Given the description of an element on the screen output the (x, y) to click on. 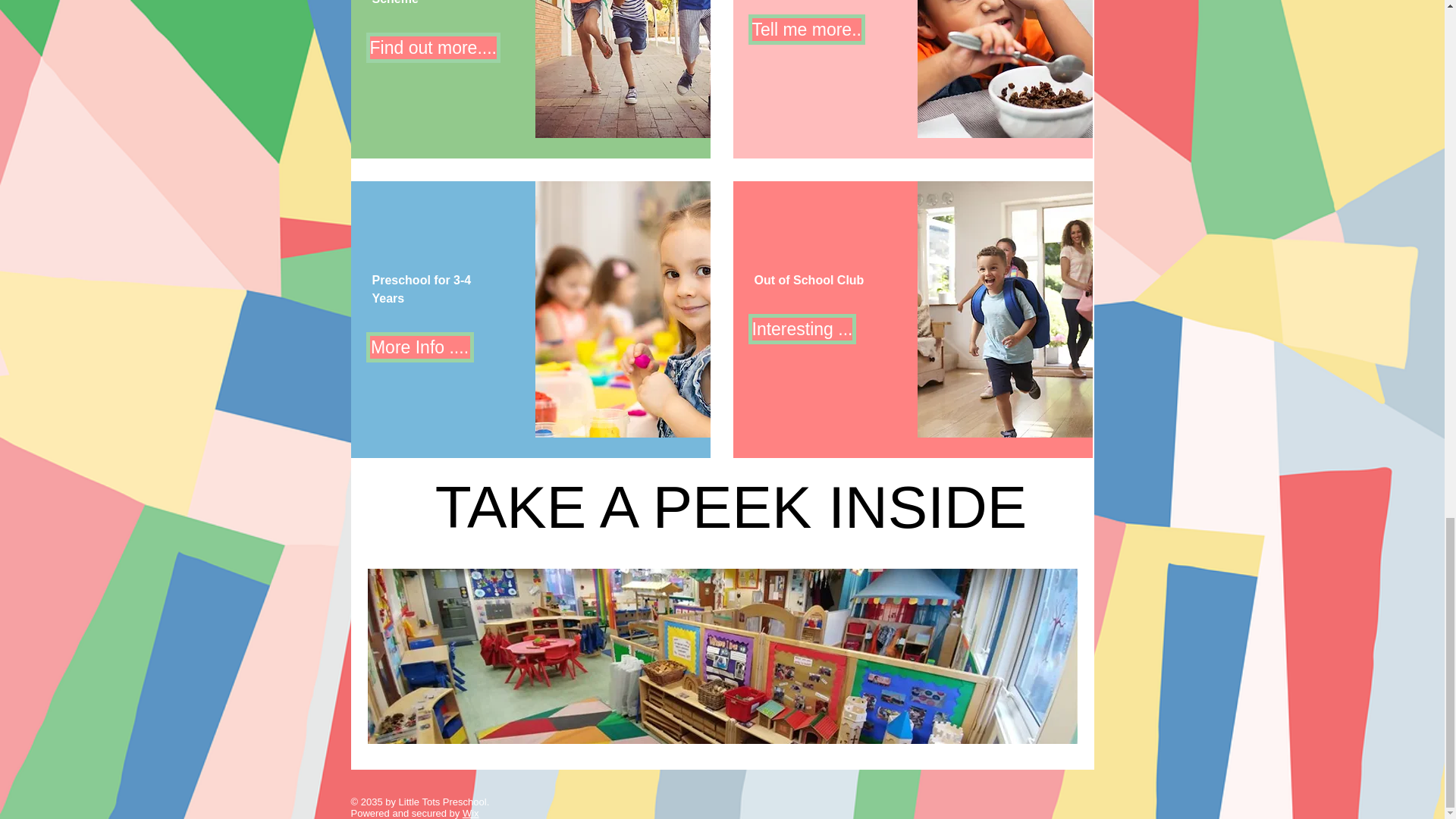
Find out more.... (730, 518)
More Info .... (432, 47)
Tell me more.. (419, 347)
Interesting ... (806, 29)
